Given the description of an element on the screen output the (x, y) to click on. 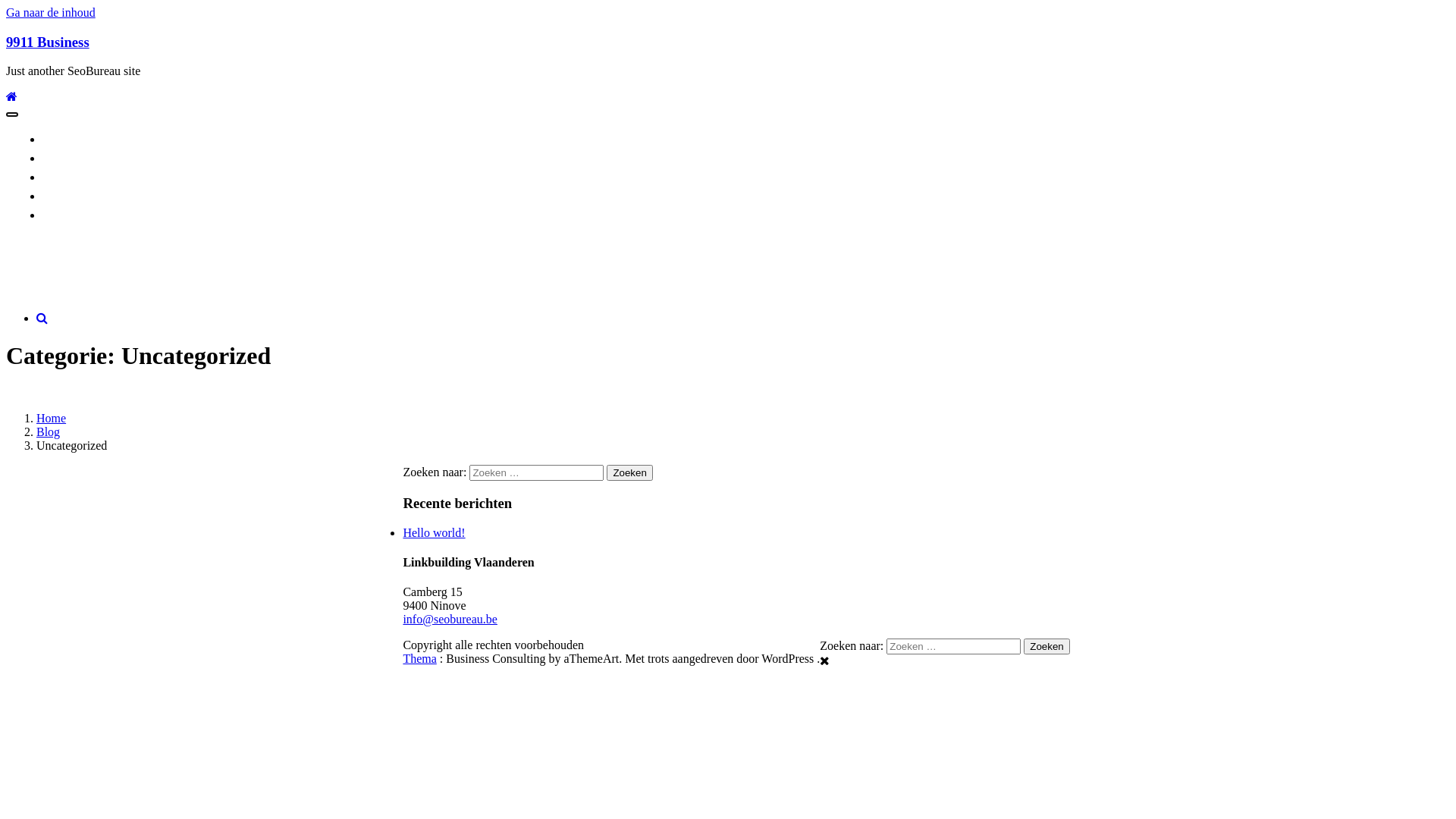
Blog Element type: text (47, 431)
info@seobureau.be Element type: text (449, 618)
Zoeken Element type: text (1046, 646)
Toggle navigatie Element type: text (12, 114)
Ga naar de inhoud Element type: text (50, 12)
Hello world! Element type: text (433, 532)
LINKS Element type: text (68, 195)
BLOG Element type: text (66, 157)
HOME Element type: text (68, 138)
search_icon Element type: hover (41, 317)
CONTACT Element type: text (78, 176)
Home Element type: text (50, 417)
9911 Business Element type: text (47, 42)
BIJNA ENERGIE NEUTRAAL BOUWEN Element type: text (152, 214)
Zoeken Element type: text (629, 472)
Thema Element type: text (419, 658)
